Given the description of an element on the screen output the (x, y) to click on. 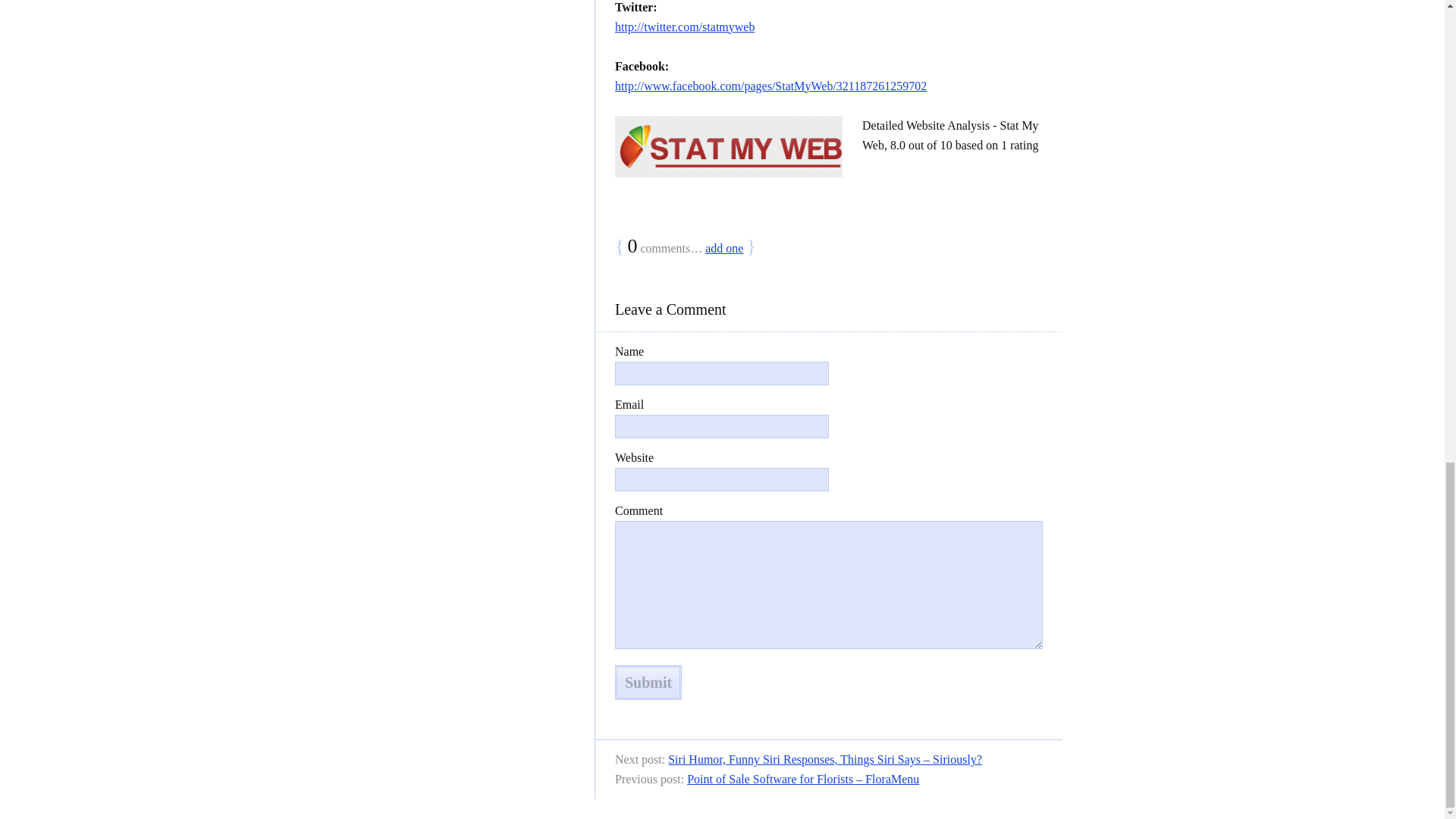
add one (723, 246)
Submit (647, 682)
Submit (647, 682)
